Given the description of an element on the screen output the (x, y) to click on. 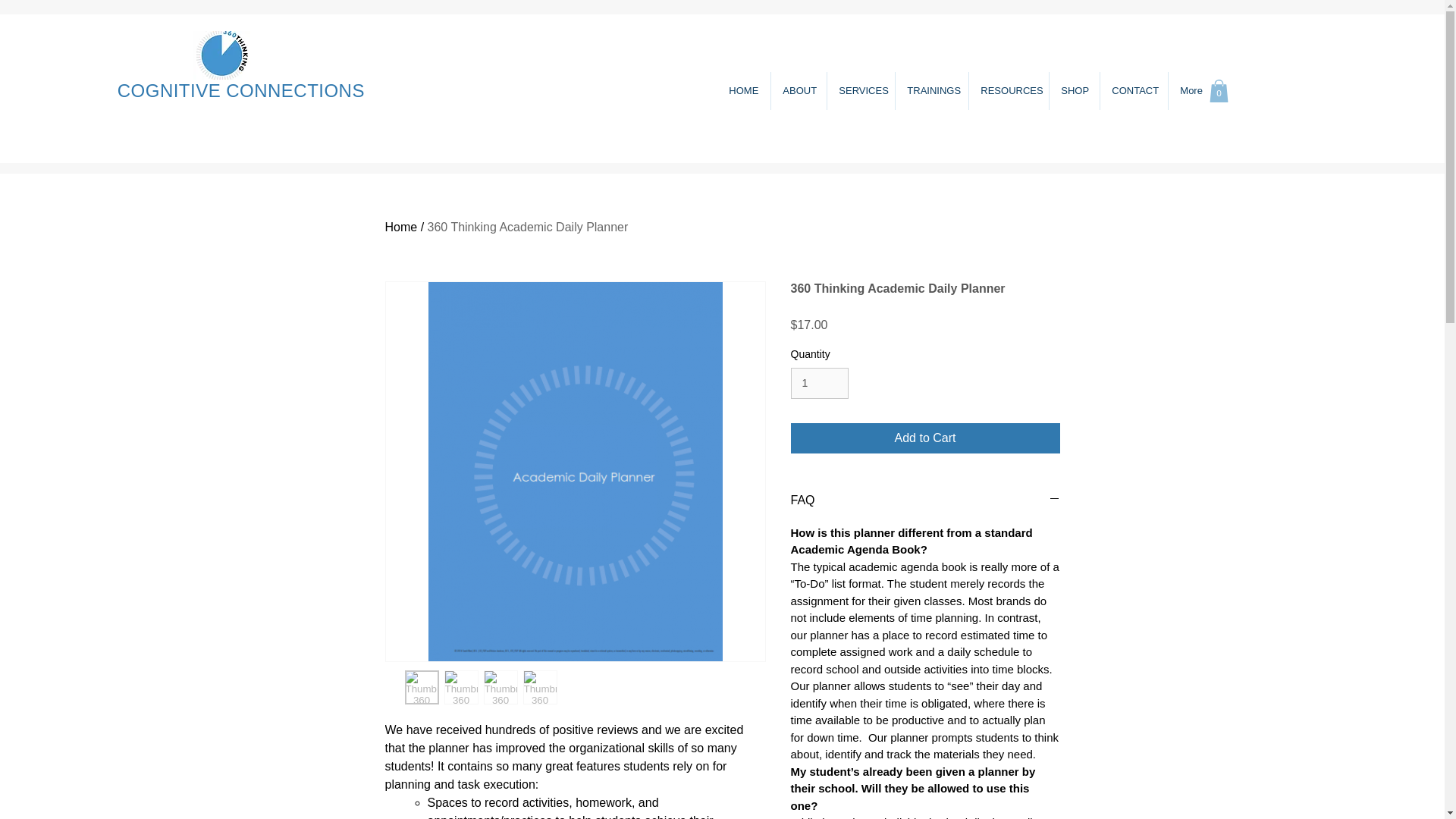
ABOUT (798, 90)
1 (818, 382)
RESOURCES (1008, 90)
HOME (743, 90)
SHOP (1073, 90)
CONTACT (1133, 90)
COGNITIVE CONNECTIONS (241, 90)
